Given the description of an element on the screen output the (x, y) to click on. 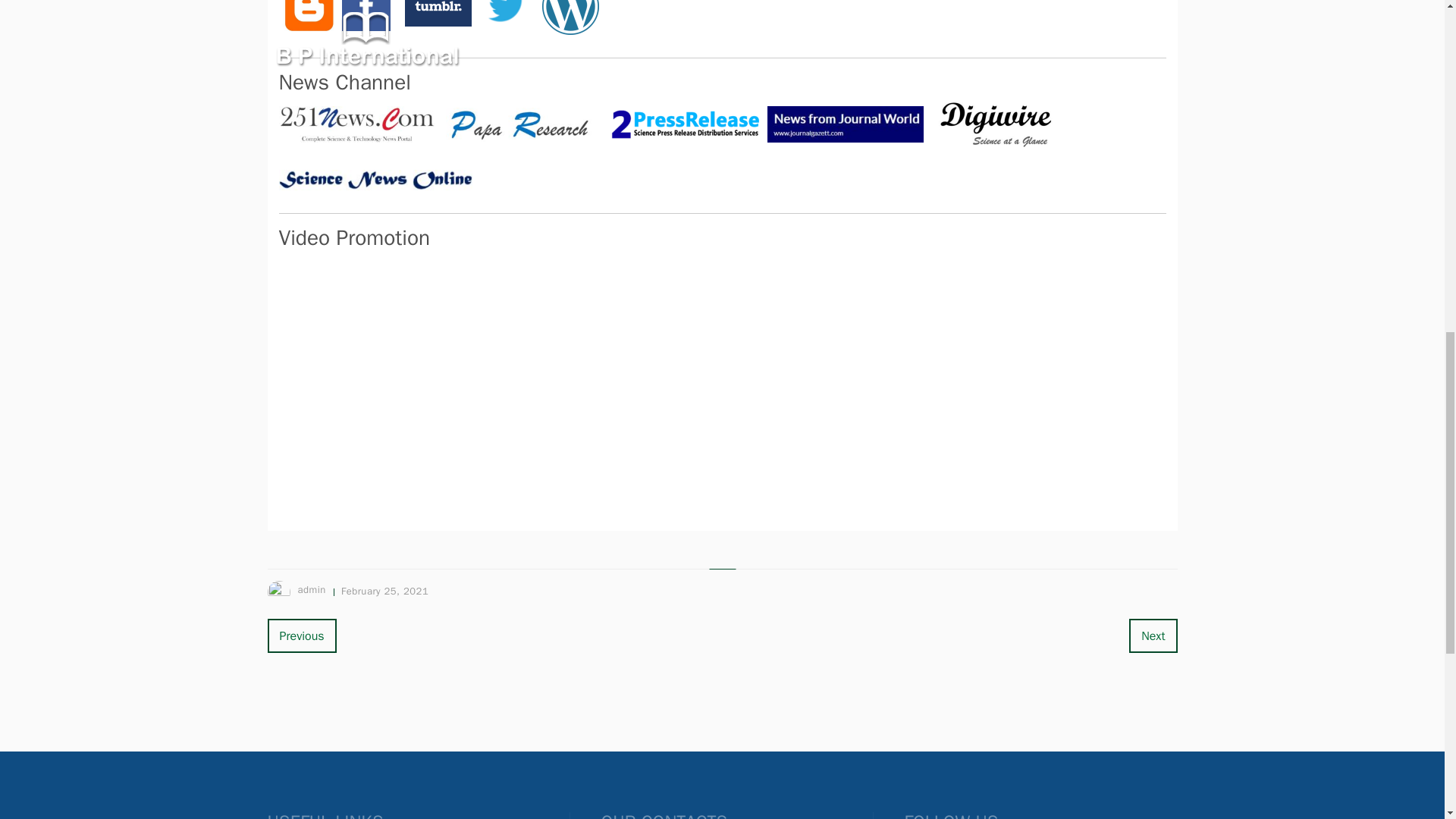
admin (310, 589)
Previous (301, 635)
Next (1152, 635)
